Given the description of an element on the screen output the (x, y) to click on. 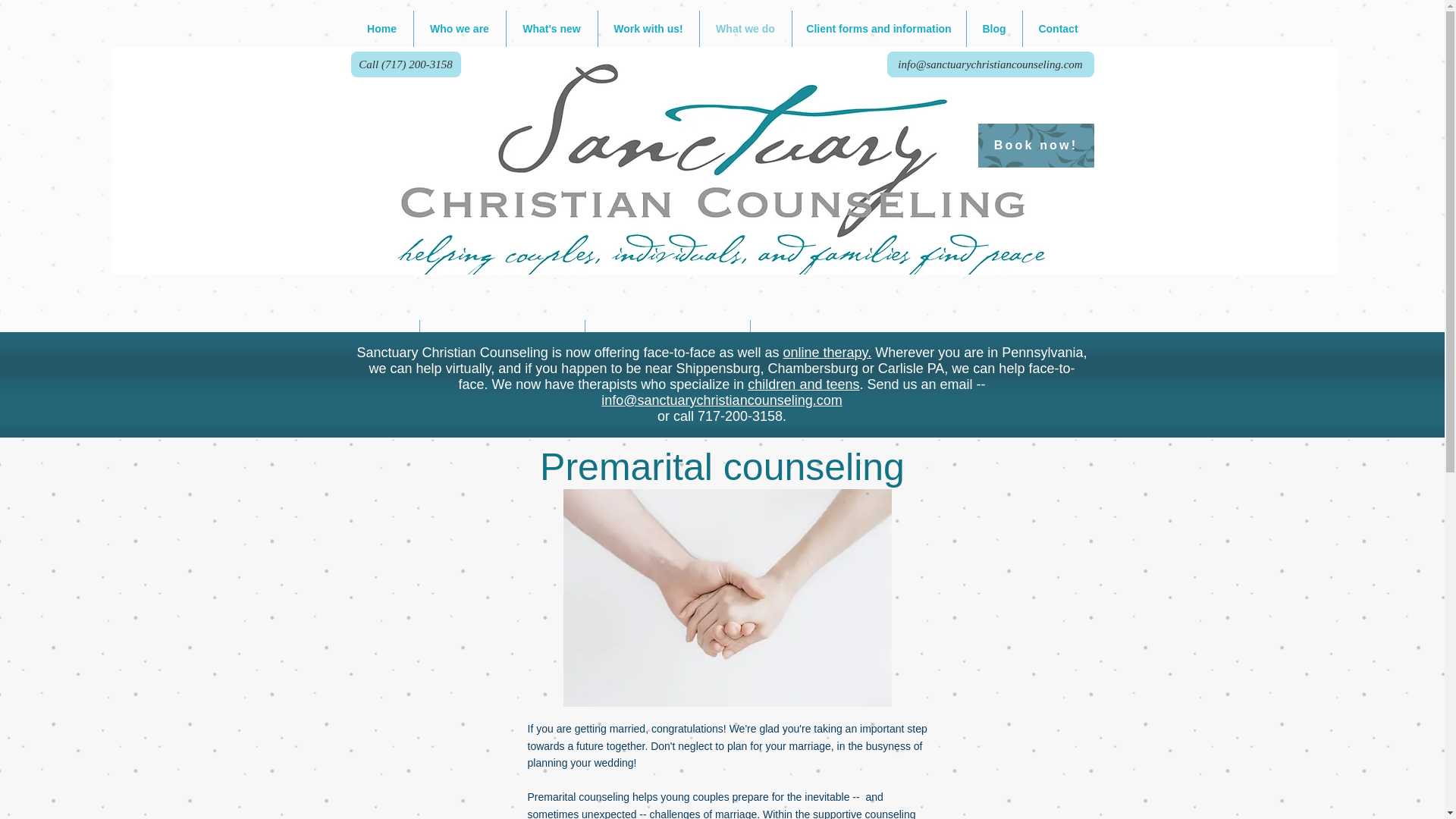
Who we are (595, 264)
Contact (1057, 28)
What's new (551, 28)
Who we are (459, 28)
Blog (994, 28)
Home (381, 28)
Client forms and information (878, 28)
Home (524, 264)
What we do (744, 28)
